Given the description of an element on the screen output the (x, y) to click on. 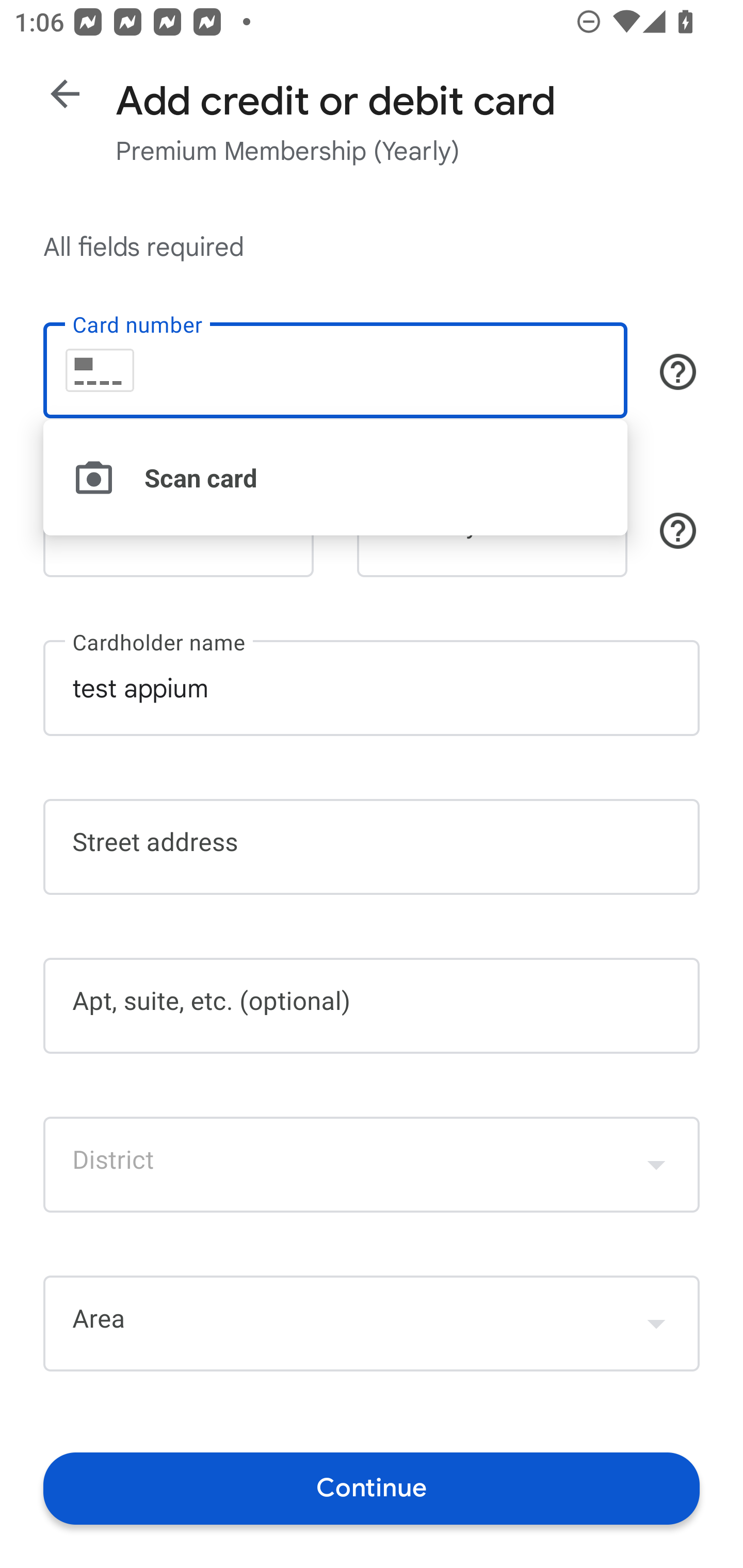
Back (64, 93)
Card number (335, 370)
Button, shows cards that are accepted for payment (677, 371)
Security code help (677, 530)
test appium (371, 687)
Street address (371, 847)
Apt, suite, etc. (optional) (371, 1005)
District (371, 1164)
Show dropdown menu (655, 1164)
Area (371, 1323)
Show dropdown menu (655, 1323)
Continue (371, 1487)
